Given the description of an element on the screen output the (x, y) to click on. 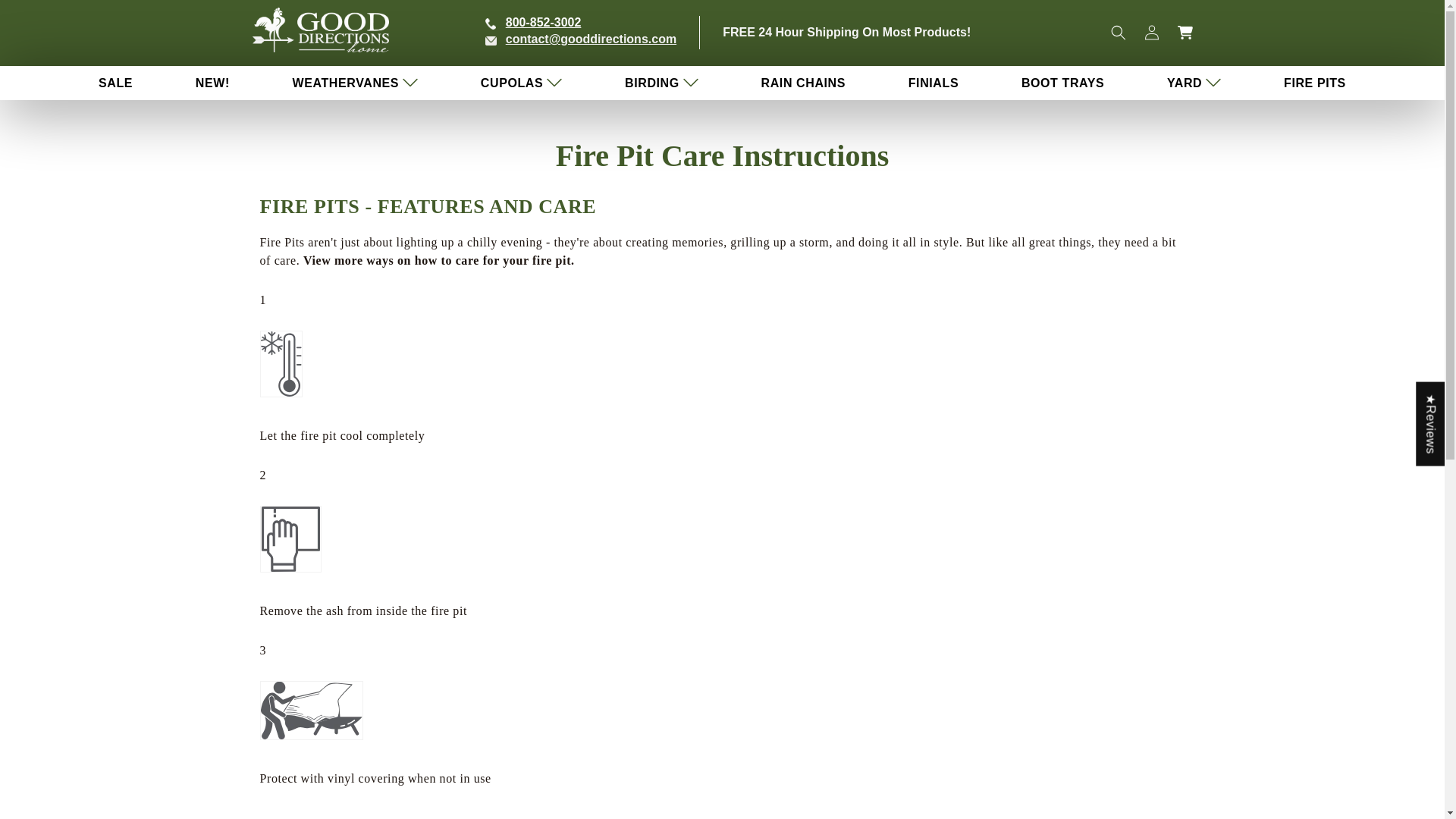
Skip to content (45, 17)
